Given the description of an element on the screen output the (x, y) to click on. 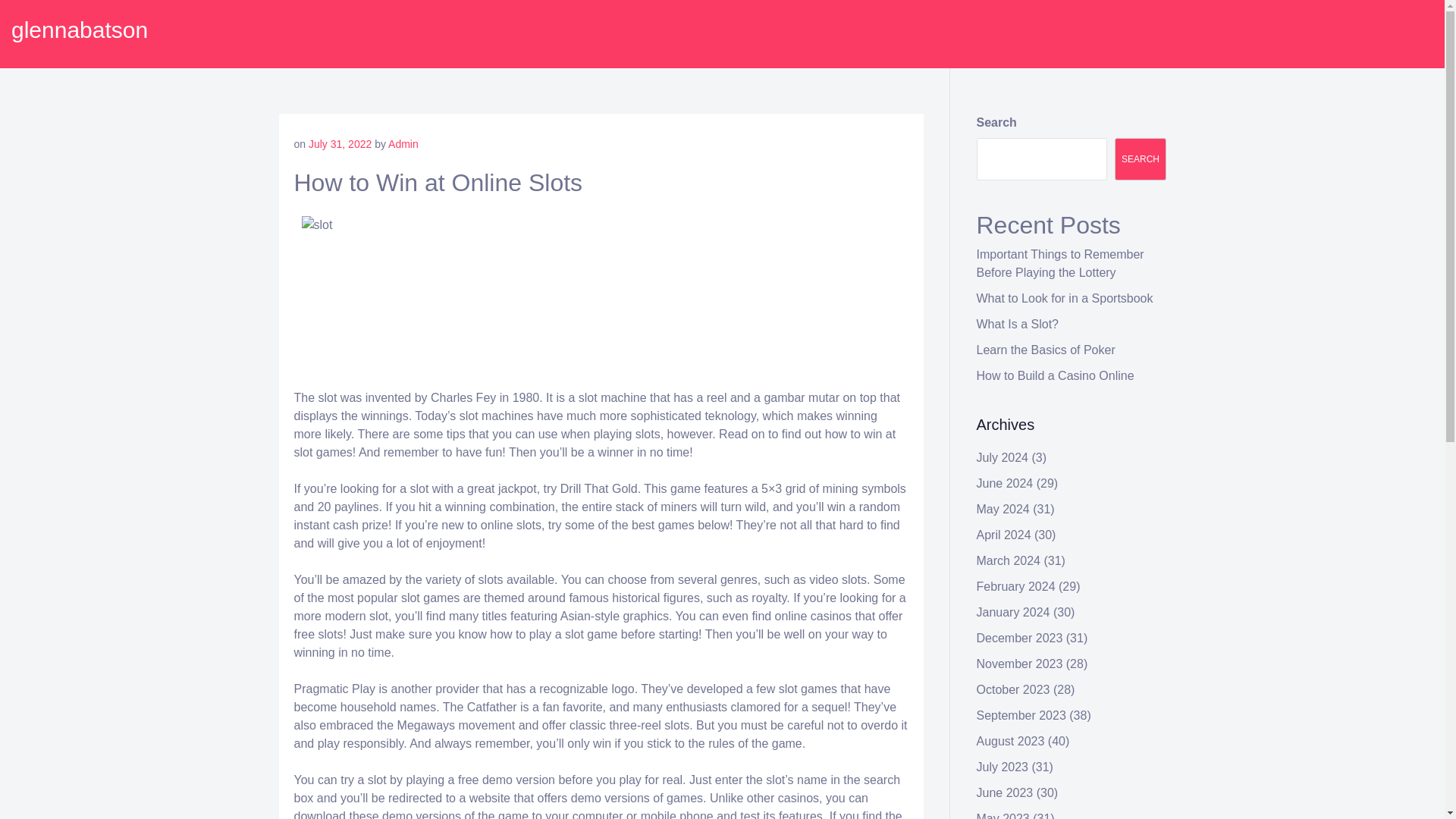
November 2023 (1019, 663)
Admin (403, 143)
September 2023 (1020, 715)
August 2023 (1010, 740)
May 2023 (1002, 815)
March 2024 (1008, 560)
glennabatson (79, 29)
What Is a Slot? (1017, 323)
Learn the Basics of Poker (1045, 349)
July 2023 (1002, 766)
How to Build a Casino Online (1055, 375)
July 2024 (1002, 457)
January 2024 (1012, 612)
July 31, 2022 (339, 143)
May 2024 (1002, 508)
